Given the description of an element on the screen output the (x, y) to click on. 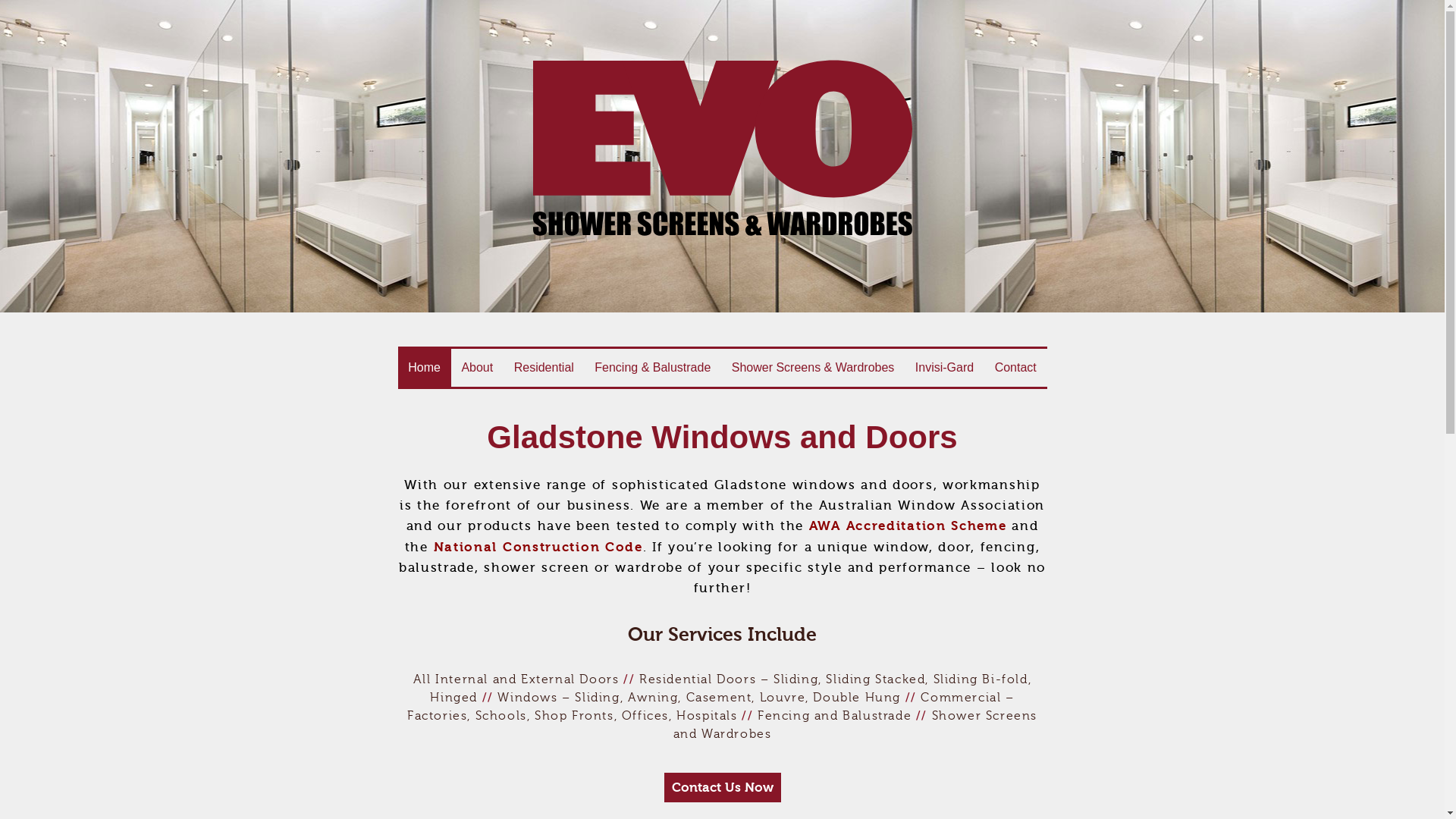
Residential Element type: text (543, 367)
Home Element type: text (423, 367)
Shower Screens & Wardrobes Element type: text (812, 367)
Contact Element type: text (1015, 367)
About Element type: text (477, 367)
National Construction Code Element type: text (538, 546)
AWA Accreditation Scheme Element type: text (908, 525)
Contact Us Now Element type: text (722, 787)
Fencing & Balustrade Element type: text (652, 367)
Invisi-Gard Element type: text (944, 367)
